Given the description of an element on the screen output the (x, y) to click on. 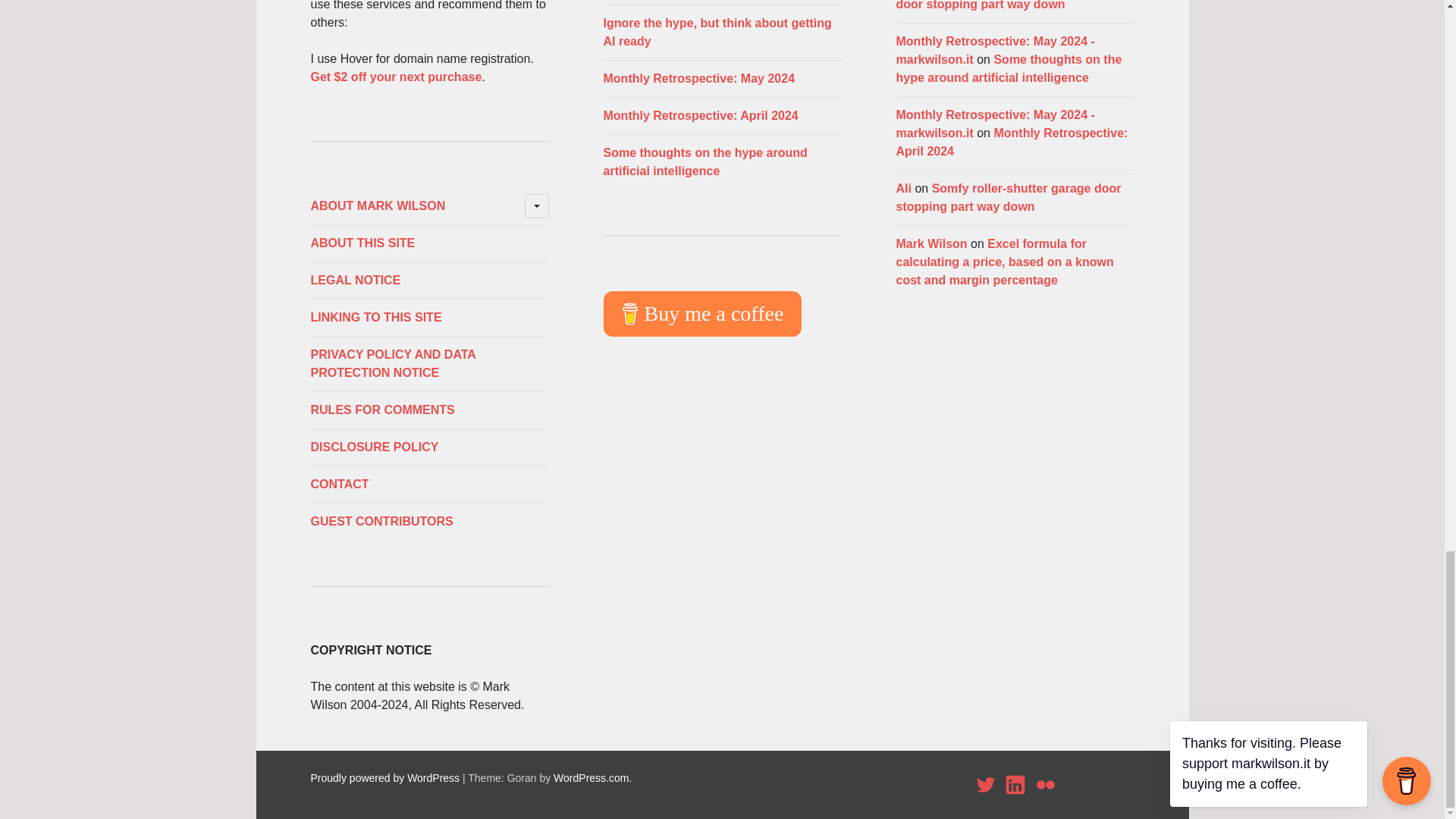
DISCLOSURE POLICY (429, 447)
GUEST CONTRIBUTORS (429, 521)
LINKING TO THIS SITE (429, 317)
LEGAL NOTICE (429, 280)
PRIVACY POLICY AND DATA PROTECTION NOTICE (429, 363)
RULES FOR COMMENTS (429, 410)
CONTACT (429, 484)
ABOUT THIS SITE (429, 243)
ABOUT MARK WILSON (429, 206)
